Given the description of an element on the screen output the (x, y) to click on. 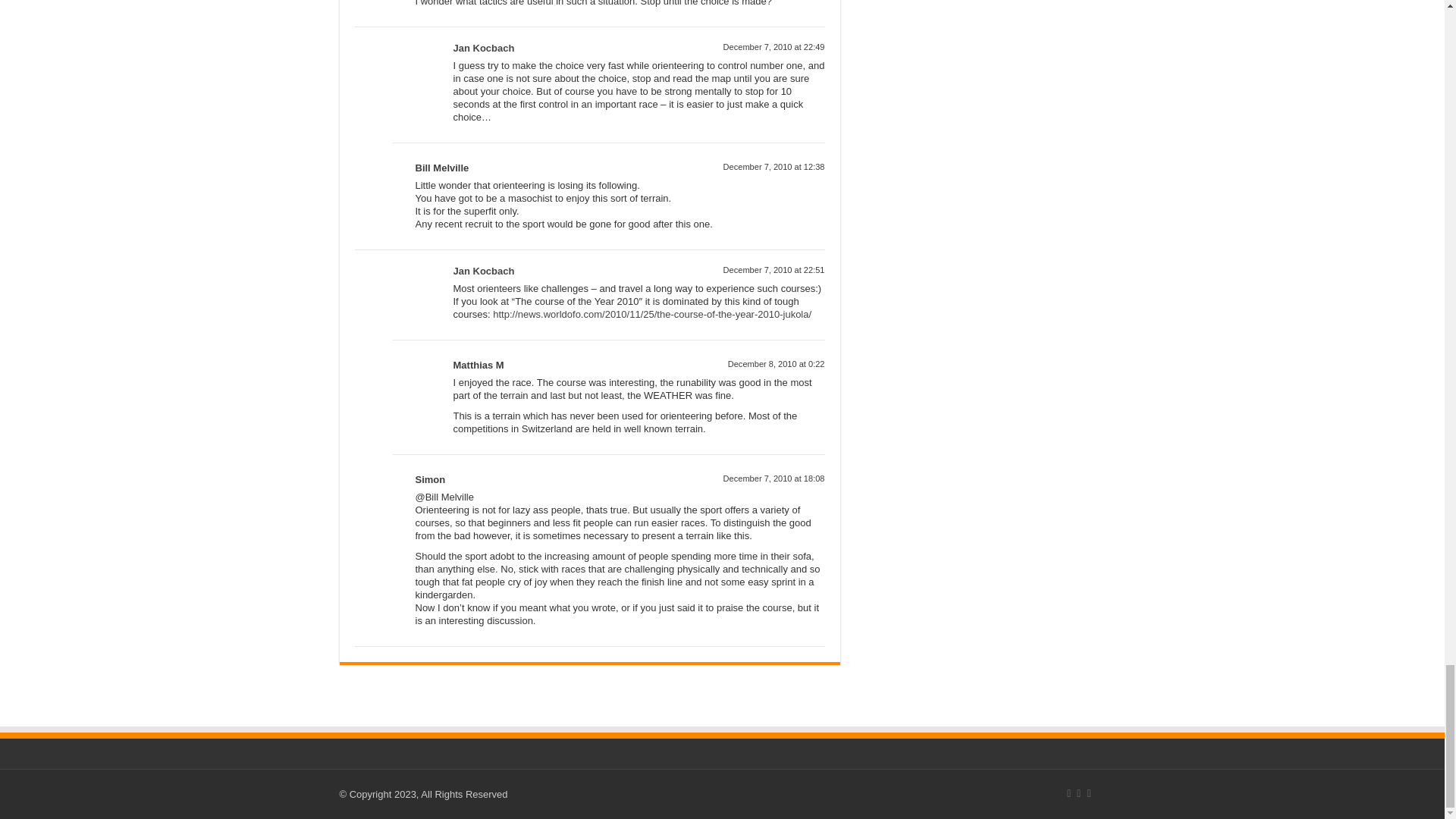
Jan Kocbach (483, 270)
Jan Kocbach (483, 48)
December 7, 2010 at 22:49 (774, 46)
December 7, 2010 at 12:38 (774, 166)
